Given the description of an element on the screen output the (x, y) to click on. 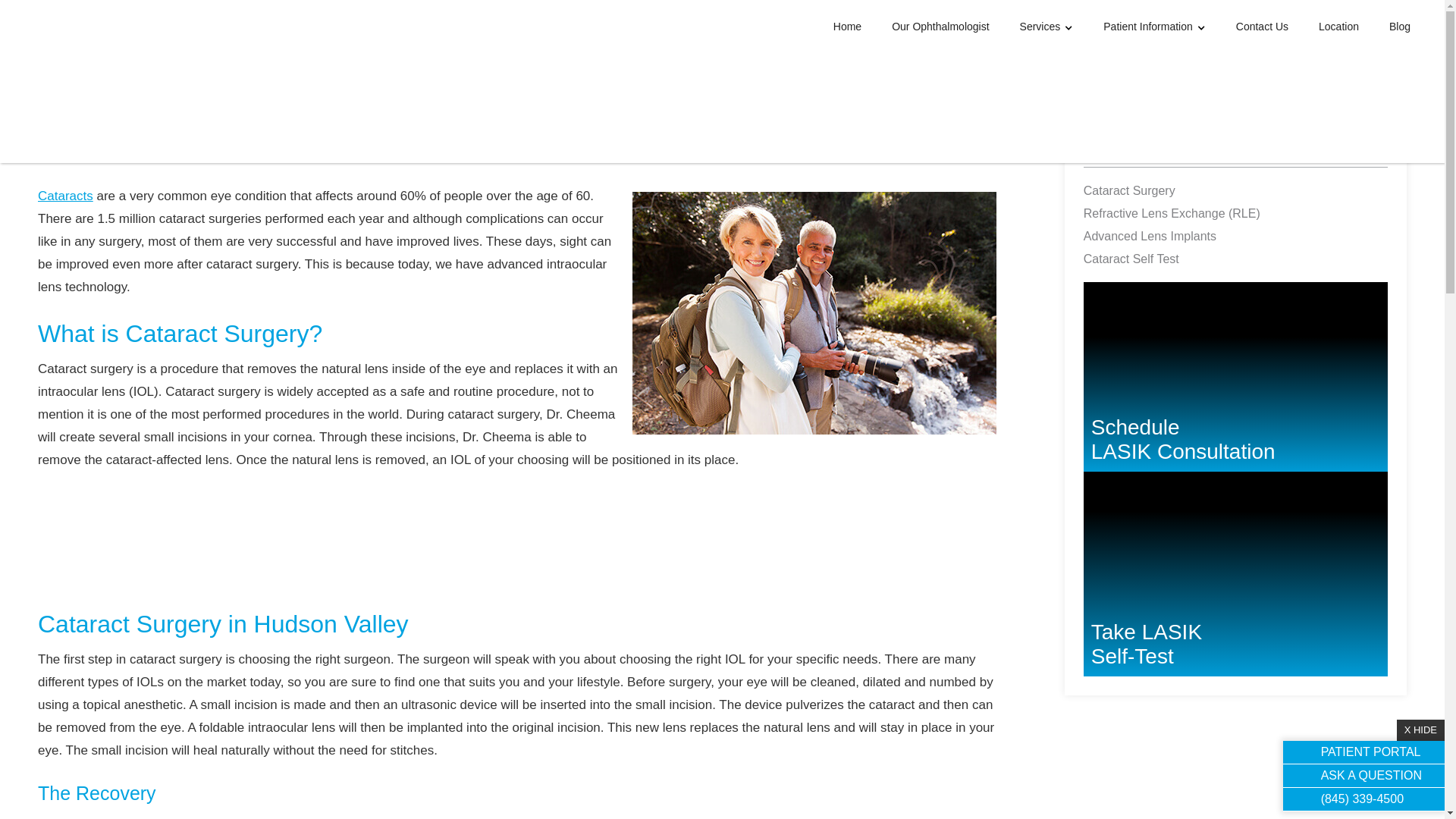
Cataract Surgery (1171, 191)
CATARACTS (1134, 148)
Advanced Lens Implants (1171, 236)
Our Ophthalmologist (940, 26)
Patient Information (1154, 27)
Services (1235, 581)
Cataracts (1046, 27)
Cataracts (65, 196)
